Given the description of an element on the screen output the (x, y) to click on. 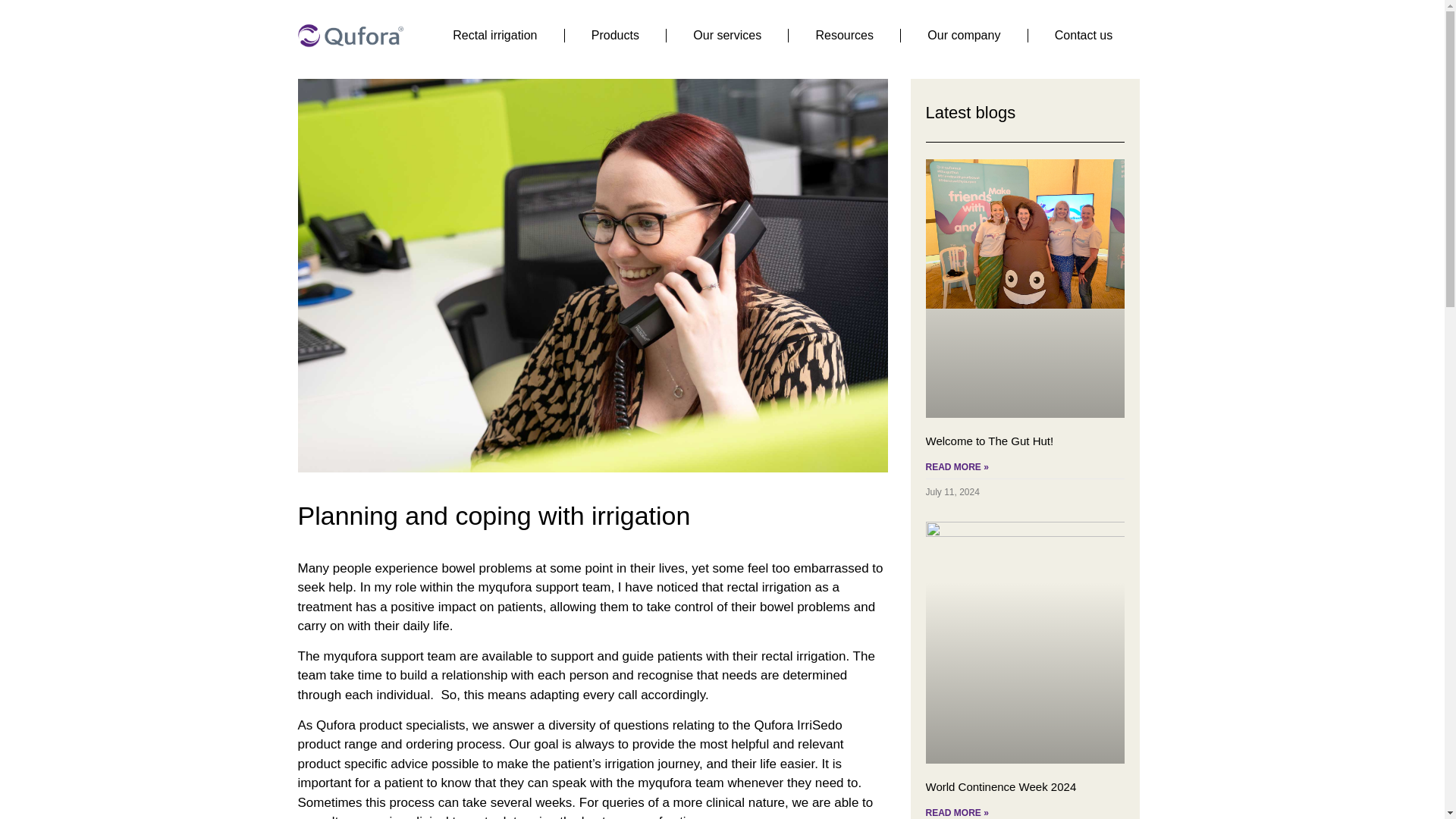
Our company (963, 35)
Resources (844, 35)
Products (615, 35)
Rectal irrigation (495, 35)
Contact us (1083, 35)
Our services (726, 35)
